Given the description of an element on the screen output the (x, y) to click on. 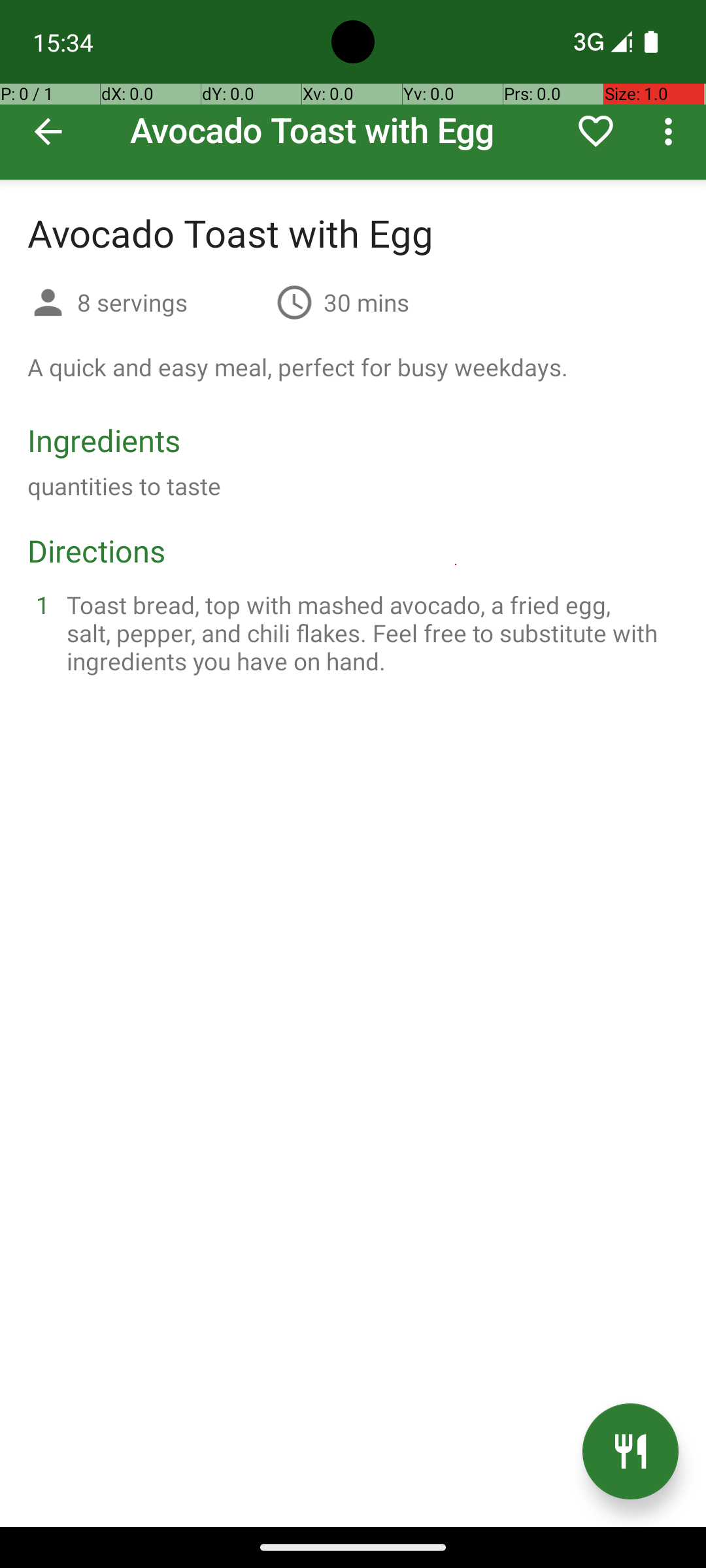
30 mins Element type: android.widget.TextView (366, 301)
quantities to taste Element type: android.widget.TextView (123, 485)
Toast bread, top with mashed avocado, a fried egg, salt, pepper, and chili flakes. Feel free to substitute with ingredients you have on hand. Element type: android.widget.TextView (368, 632)
